Given the description of an element on the screen output the (x, y) to click on. 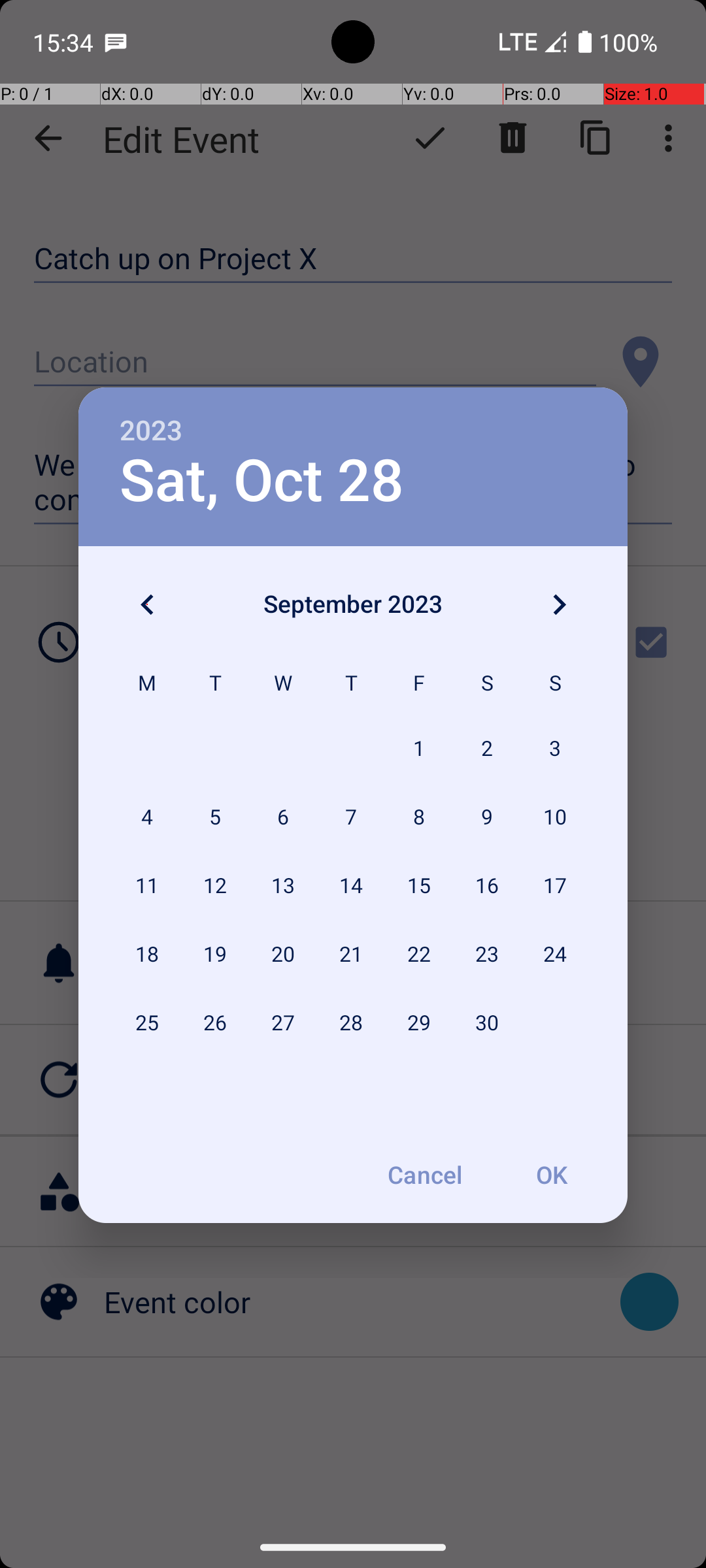
Sat, Oct 28 Element type: android.widget.TextView (261, 480)
